Given the description of an element on the screen output the (x, y) to click on. 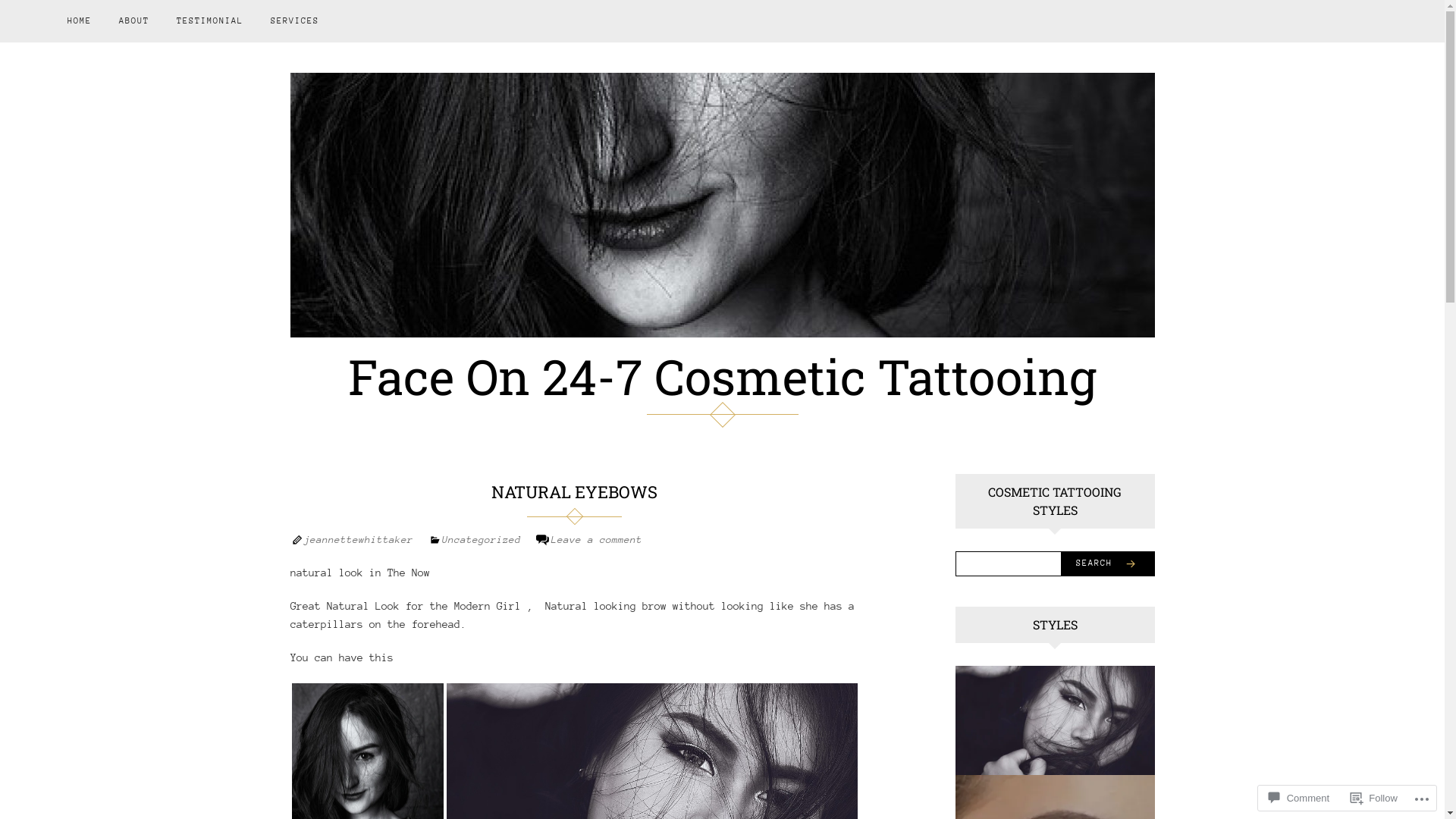
Comment Element type: text (1298, 797)
Face On 24-7 Cosmetic Tattooing Element type: text (722, 375)
Leave a comment Element type: text (595, 539)
Uncategorized Element type: text (480, 539)
SEARCH Element type: text (1107, 563)
Follow Element type: text (1373, 797)
HOME Element type: text (79, 21)
jeannettewhittaker Element type: text (357, 539)
SERVICES Element type: text (294, 21)
TESTIMONIAL Element type: text (210, 21)
ABOUT Element type: text (134, 21)
